Given the description of an element on the screen output the (x, y) to click on. 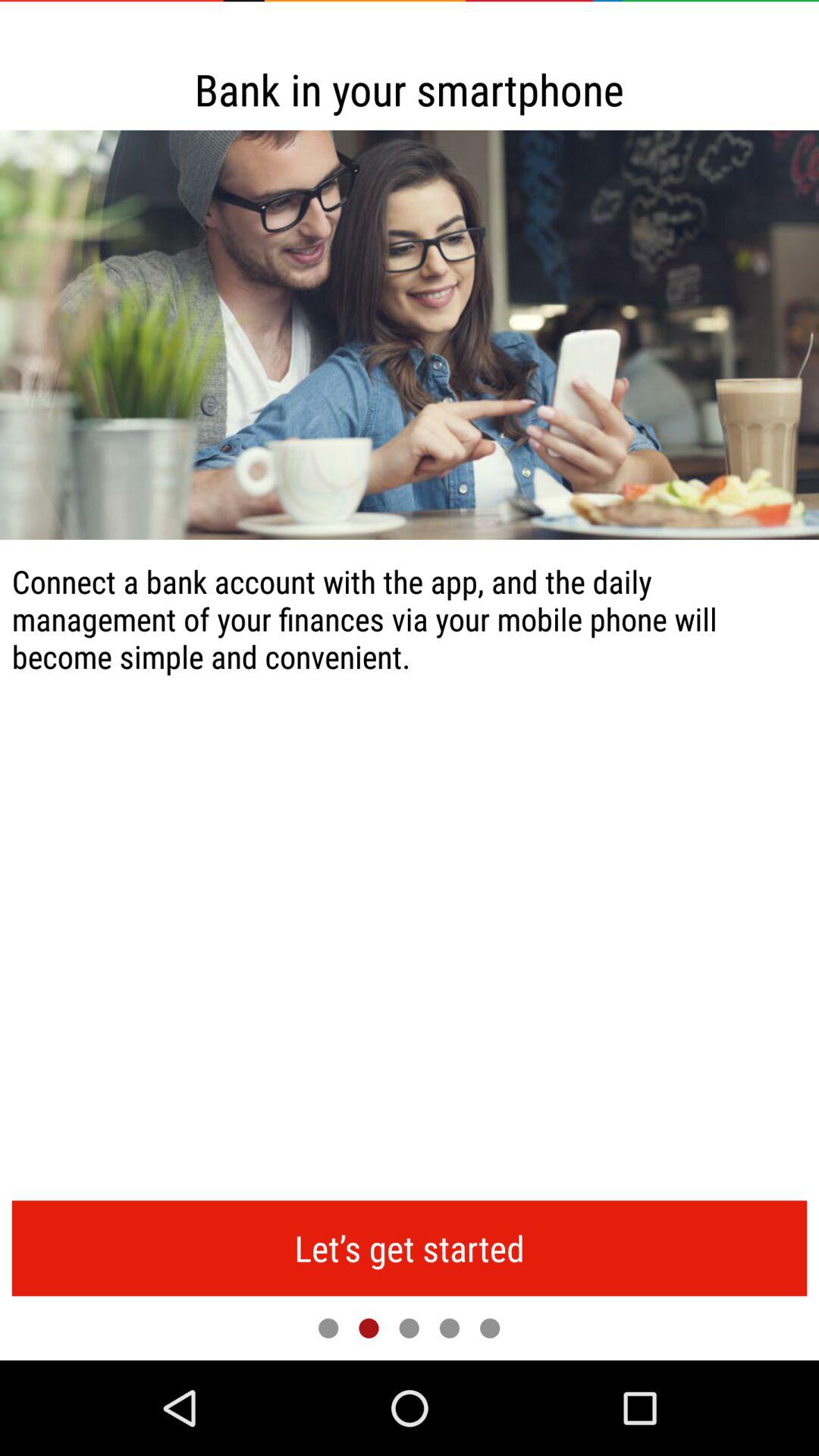
launch icon below the let s get icon (489, 1328)
